Given the description of an element on the screen output the (x, y) to click on. 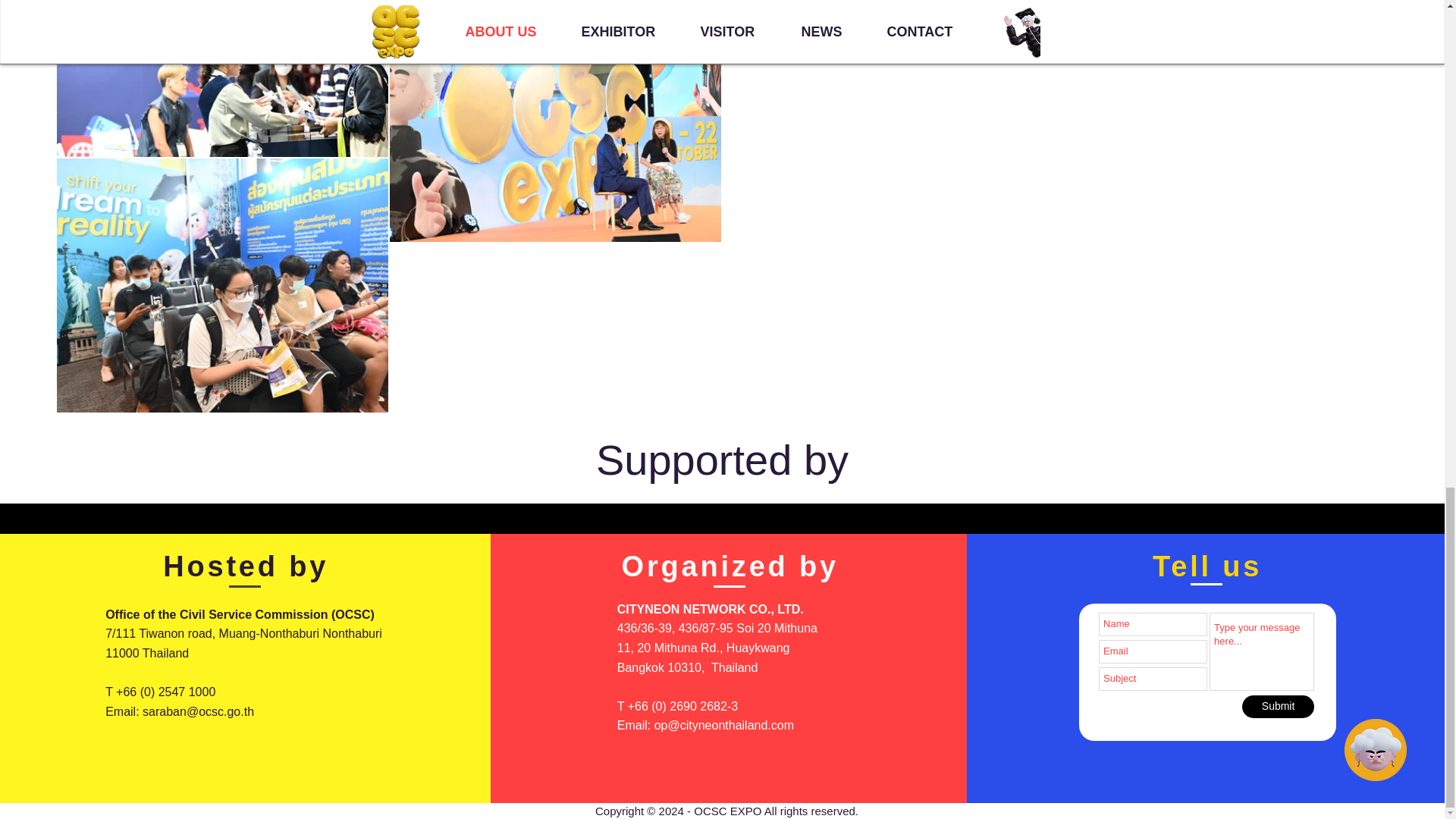
Submit (1277, 706)
